Given the description of an element on the screen output the (x, y) to click on. 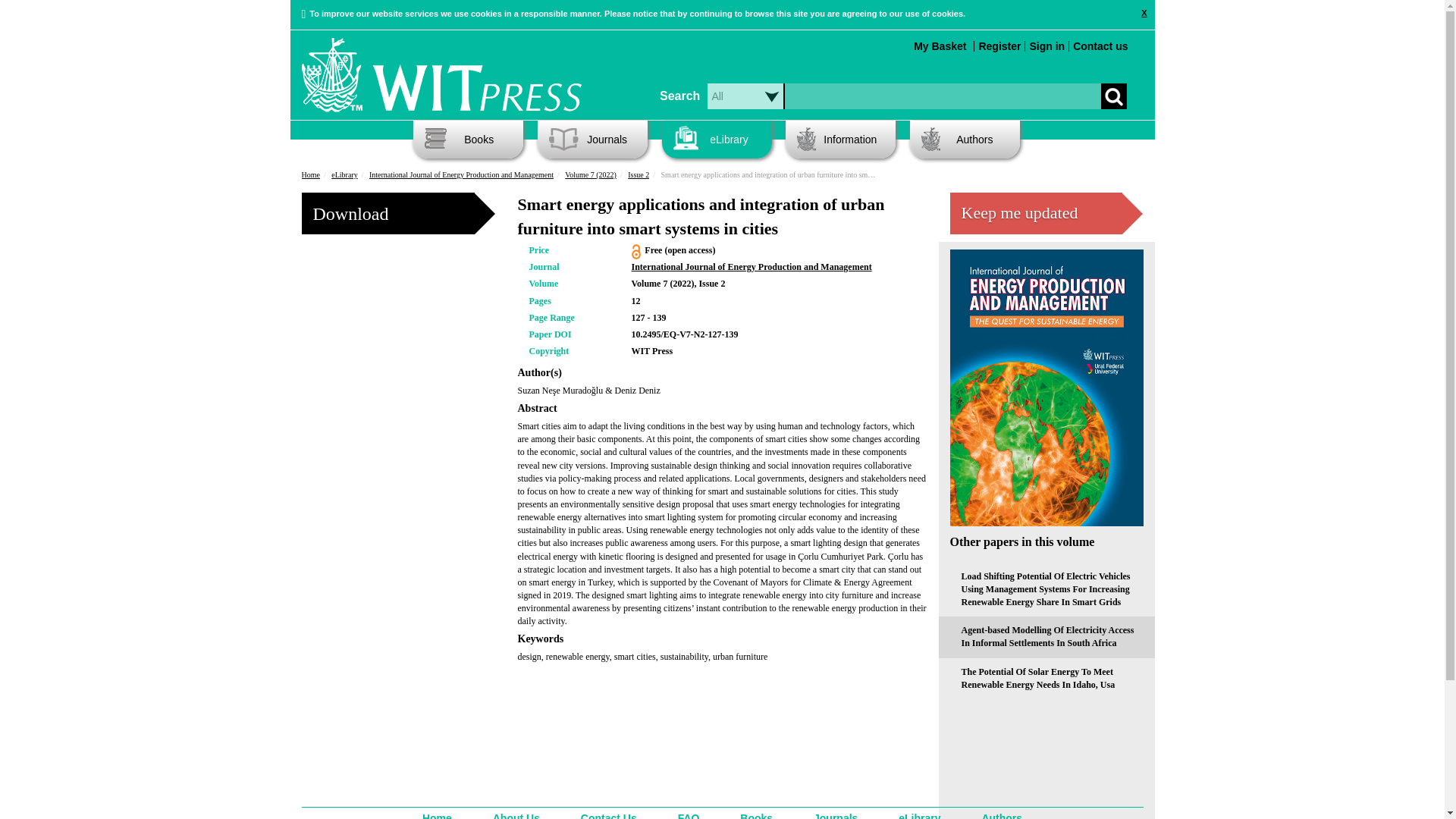
Sign in (1046, 46)
Contact us (1099, 46)
Register (999, 46)
My Basket (939, 46)
Books (467, 139)
